Given the description of an element on the screen output the (x, y) to click on. 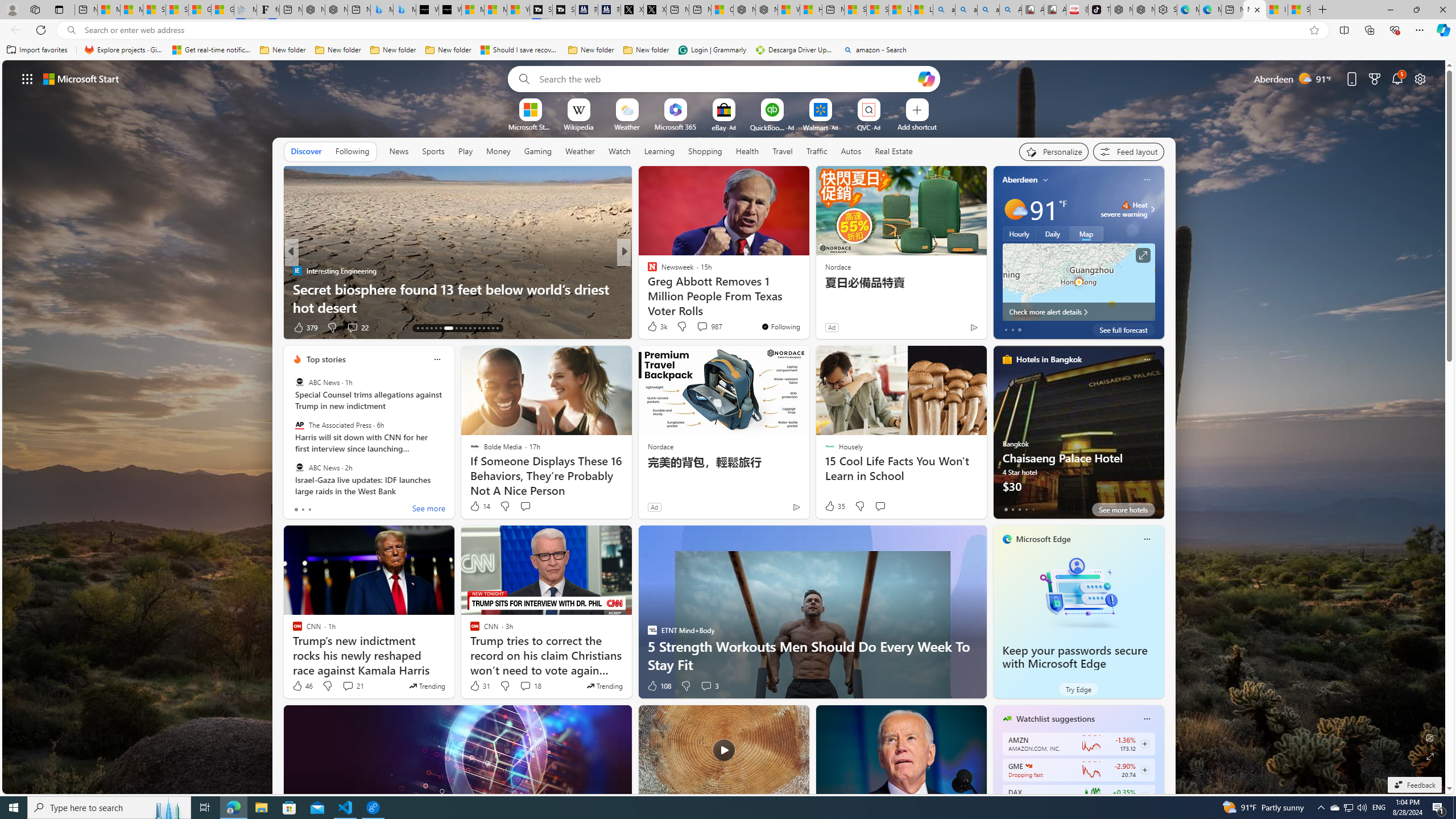
See more hotels (1123, 509)
Expand background (1430, 756)
Search icon (70, 29)
You're following FOX News (949, 329)
Top stories (325, 359)
Heat - Severe Heat severe warning (1123, 208)
The Independent (647, 270)
Login | Grammarly (712, 49)
hotels-header-icon (1006, 358)
AutomationID: waffle (27, 78)
